Given the description of an element on the screen output the (x, y) to click on. 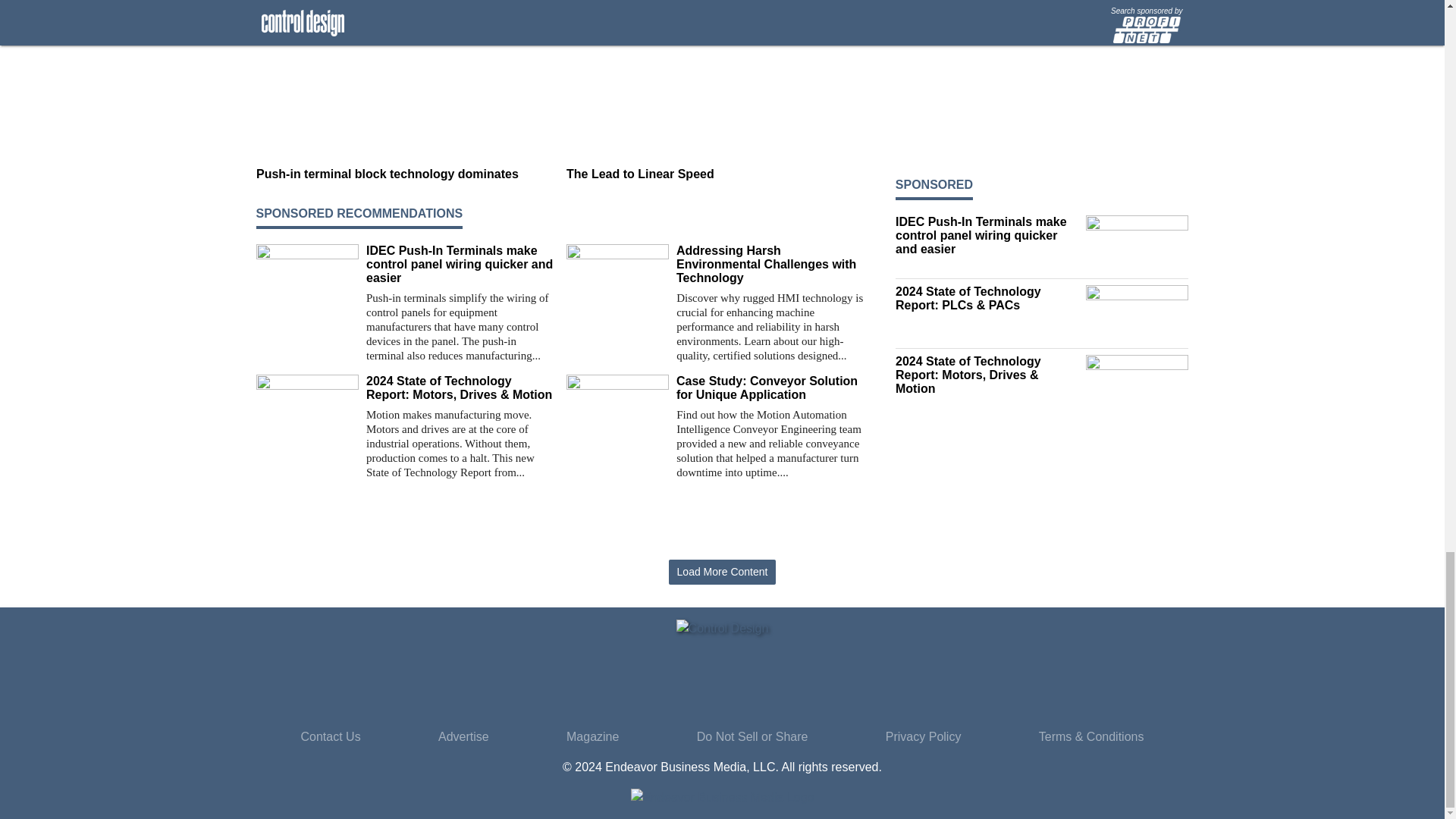
Case Study: Conveyor Solution for Unique Application (770, 388)
The Lead to Linear Speed (715, 173)
Addressing Harsh Environmental Challenges with Technology (770, 264)
Push-in terminal block technology dominates (405, 173)
